Given the description of an element on the screen output the (x, y) to click on. 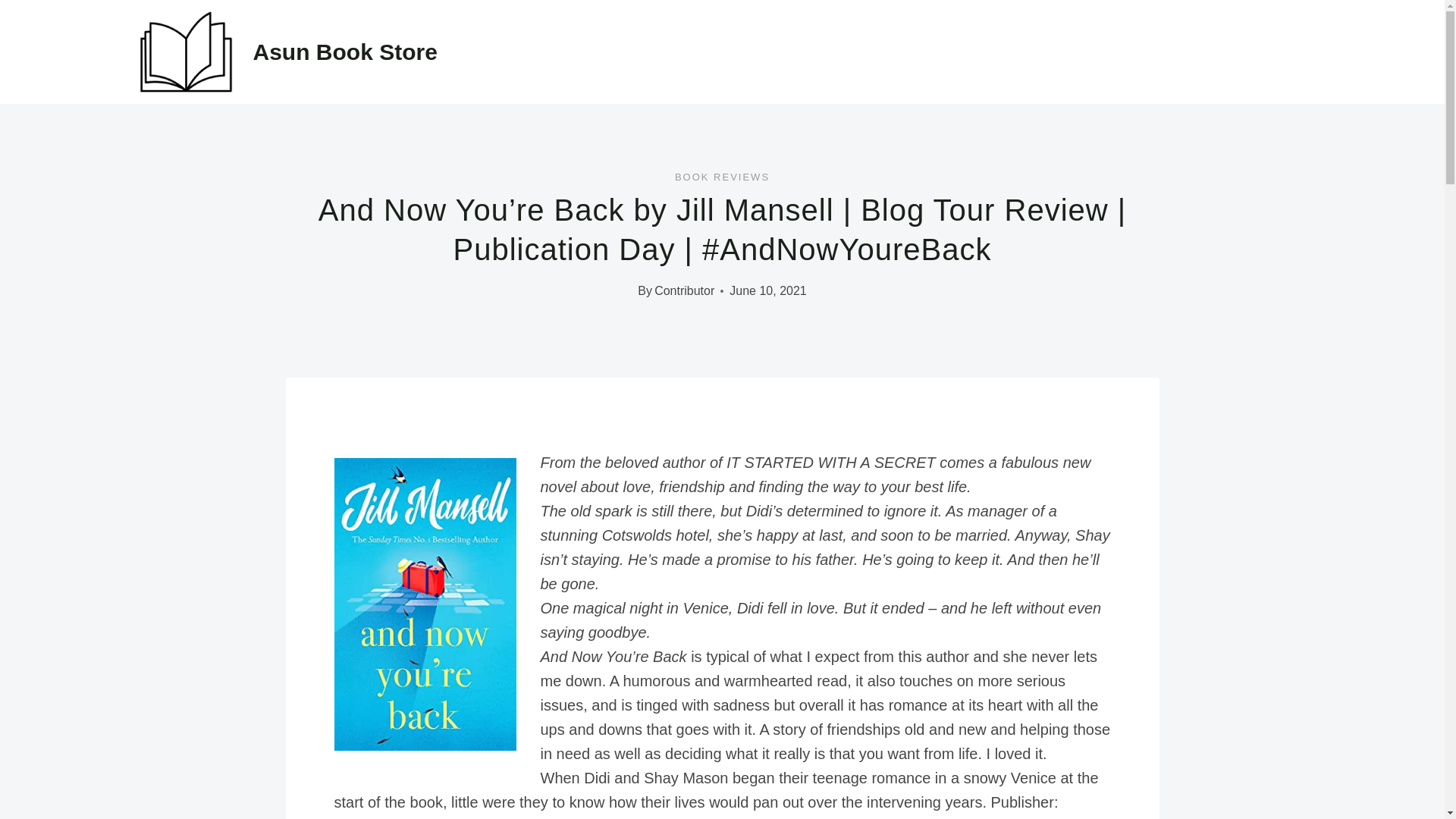
Contributor (683, 290)
BOOK REVIEWS (722, 176)
Asun Book Store (284, 52)
